Given the description of an element on the screen output the (x, y) to click on. 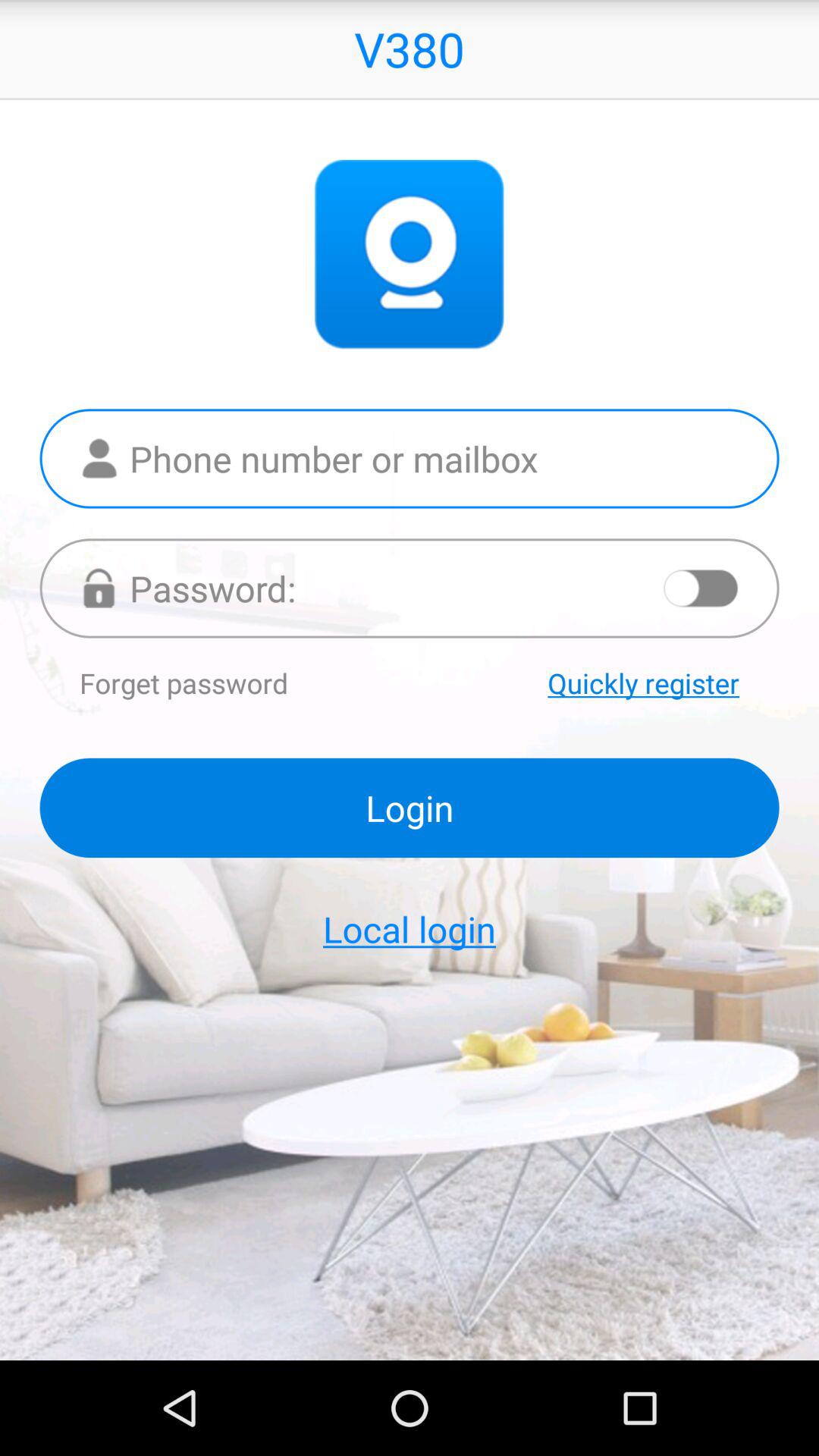
turn on and off app (701, 587)
